Given the description of an element on the screen output the (x, y) to click on. 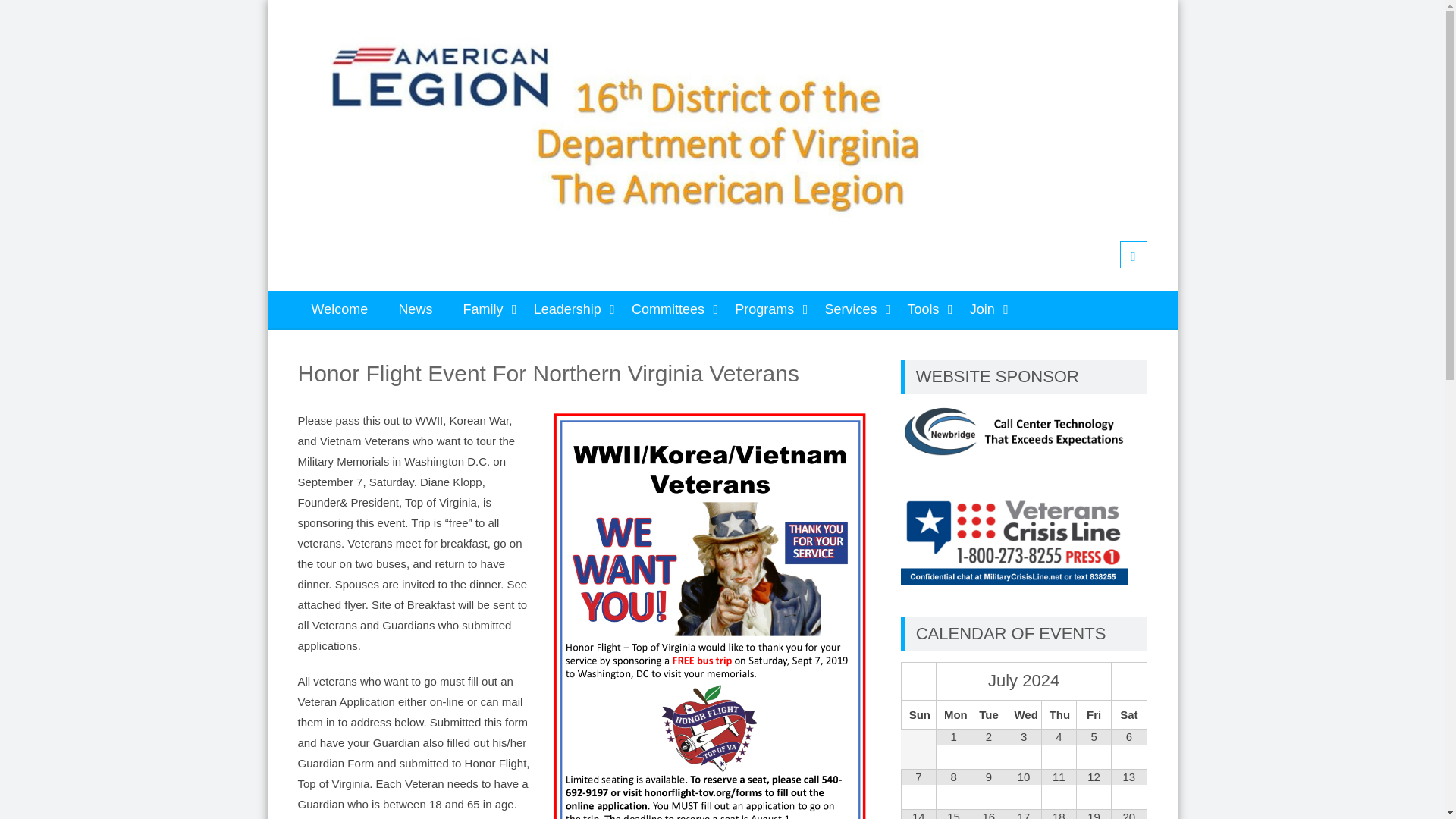
Leadership (566, 309)
Committees (667, 309)
Next Month (1128, 681)
Tools (923, 309)
Previous Month (918, 681)
News (414, 309)
Services (849, 309)
Facebook (1133, 254)
Welcome (339, 309)
Family (482, 309)
Programs (764, 309)
